Given the description of an element on the screen output the (x, y) to click on. 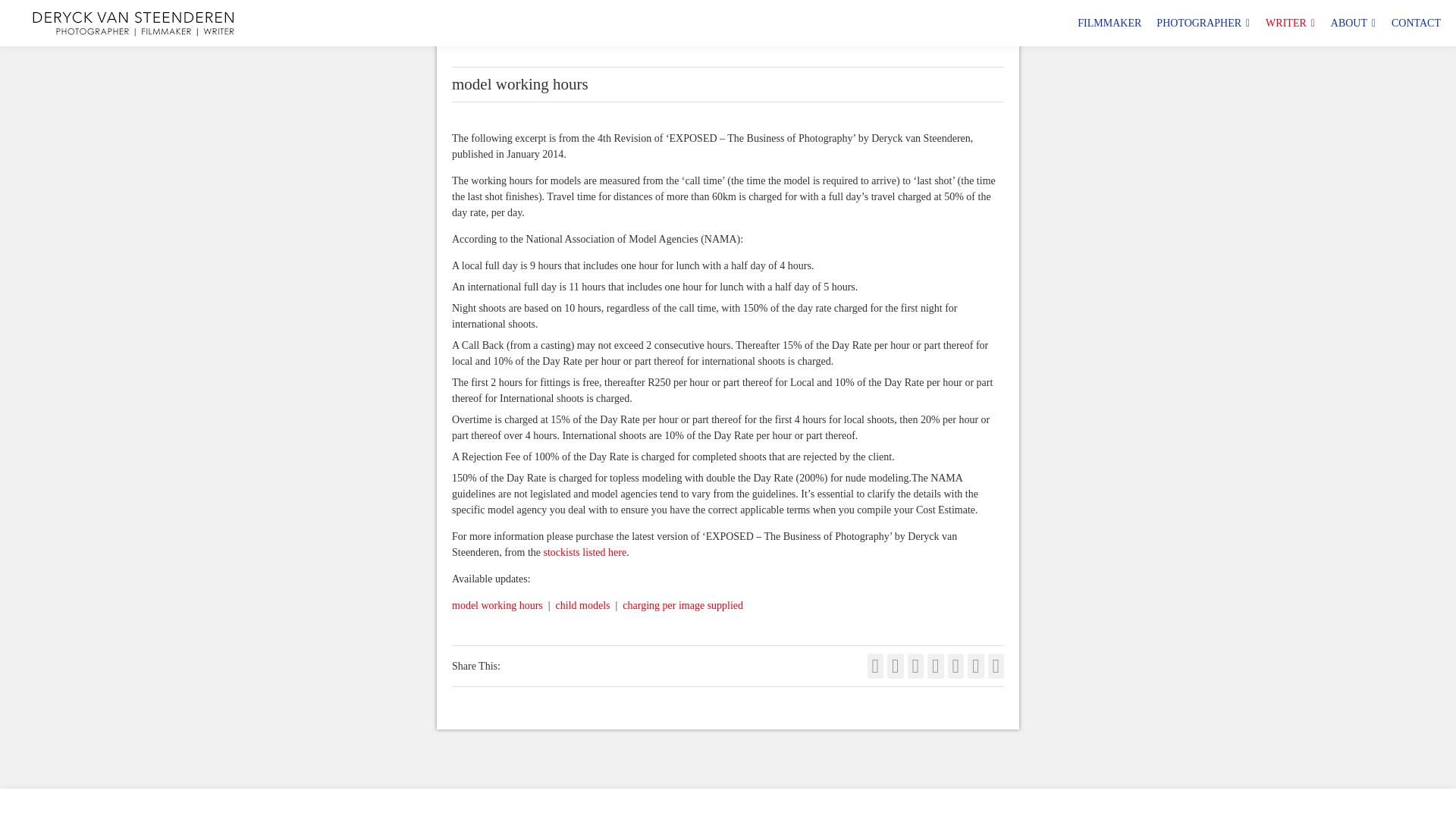
stockists listed here (585, 552)
Writing portfolio (1290, 22)
charging per image supplied (682, 604)
Contact (1416, 22)
child models (583, 604)
FILMMAKER (1109, 22)
About (1352, 22)
Photography by Deryck van Steenderen (1203, 22)
CONTACT (1416, 22)
PHOTOGRAPHER (1203, 22)
model working hours (497, 604)
WRITER (1290, 22)
ABOUT (1352, 22)
